Given the description of an element on the screen output the (x, y) to click on. 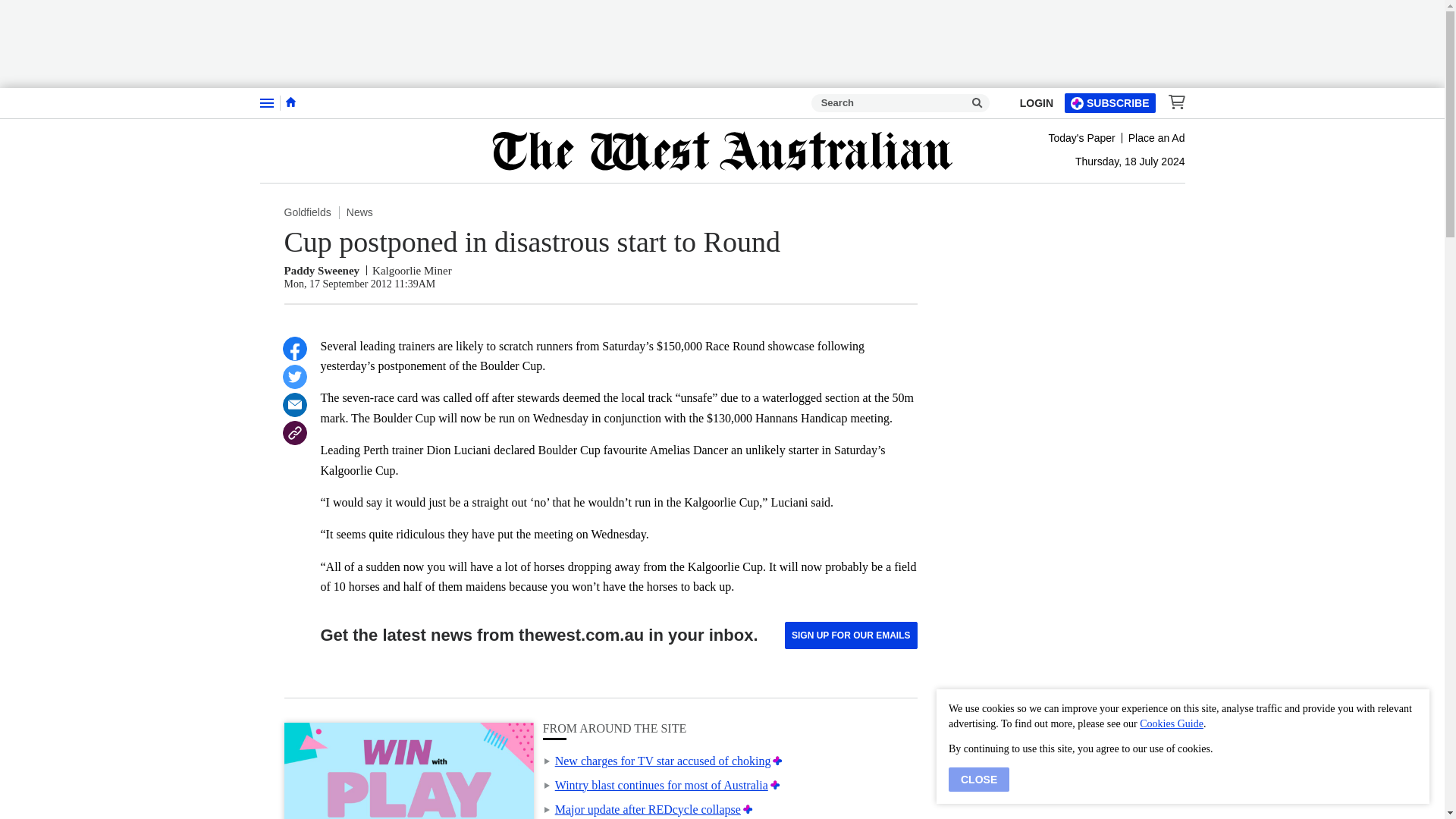
Premium (777, 760)
Premium (774, 784)
Home (290, 102)
Premium (747, 809)
Please enter a search term. (977, 102)
Empty Cart Icon (1172, 102)
